Given the description of an element on the screen output the (x, y) to click on. 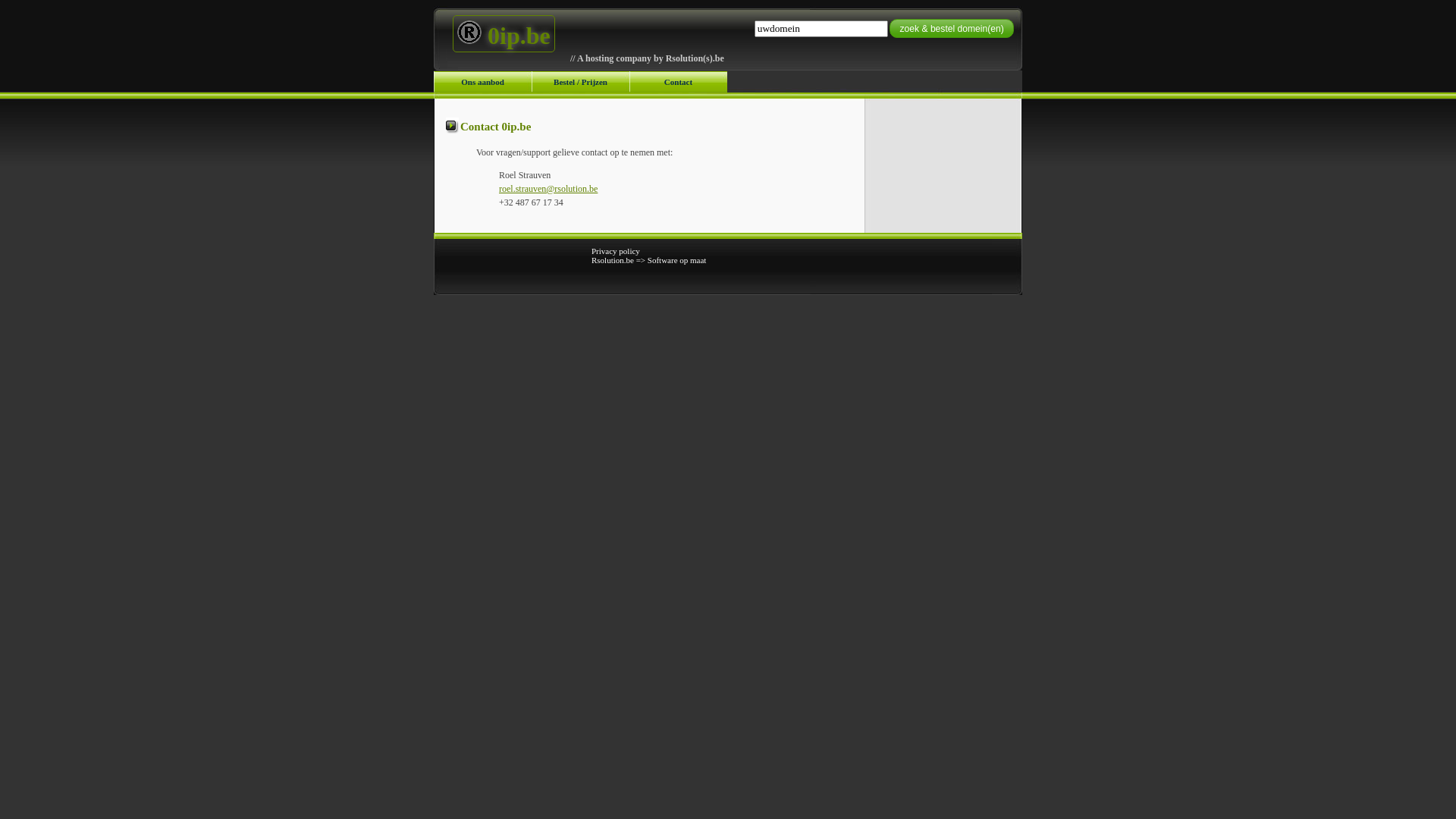
Zoek domeinen Element type: text (41, 9)
zoek & bestel domein(en) Element type: text (951, 28)
Rsolution.be => Software op maat Element type: text (648, 259)
 0ip.be Element type: text (503, 33)
Contact Element type: text (678, 81)
Bestel / Prijzen Element type: text (580, 81)
Ons aanbod Element type: text (482, 81)
Privacy policy Element type: text (615, 250)
roel.strauven@rsolution.be Element type: text (548, 181)
